Given the description of an element on the screen output the (x, y) to click on. 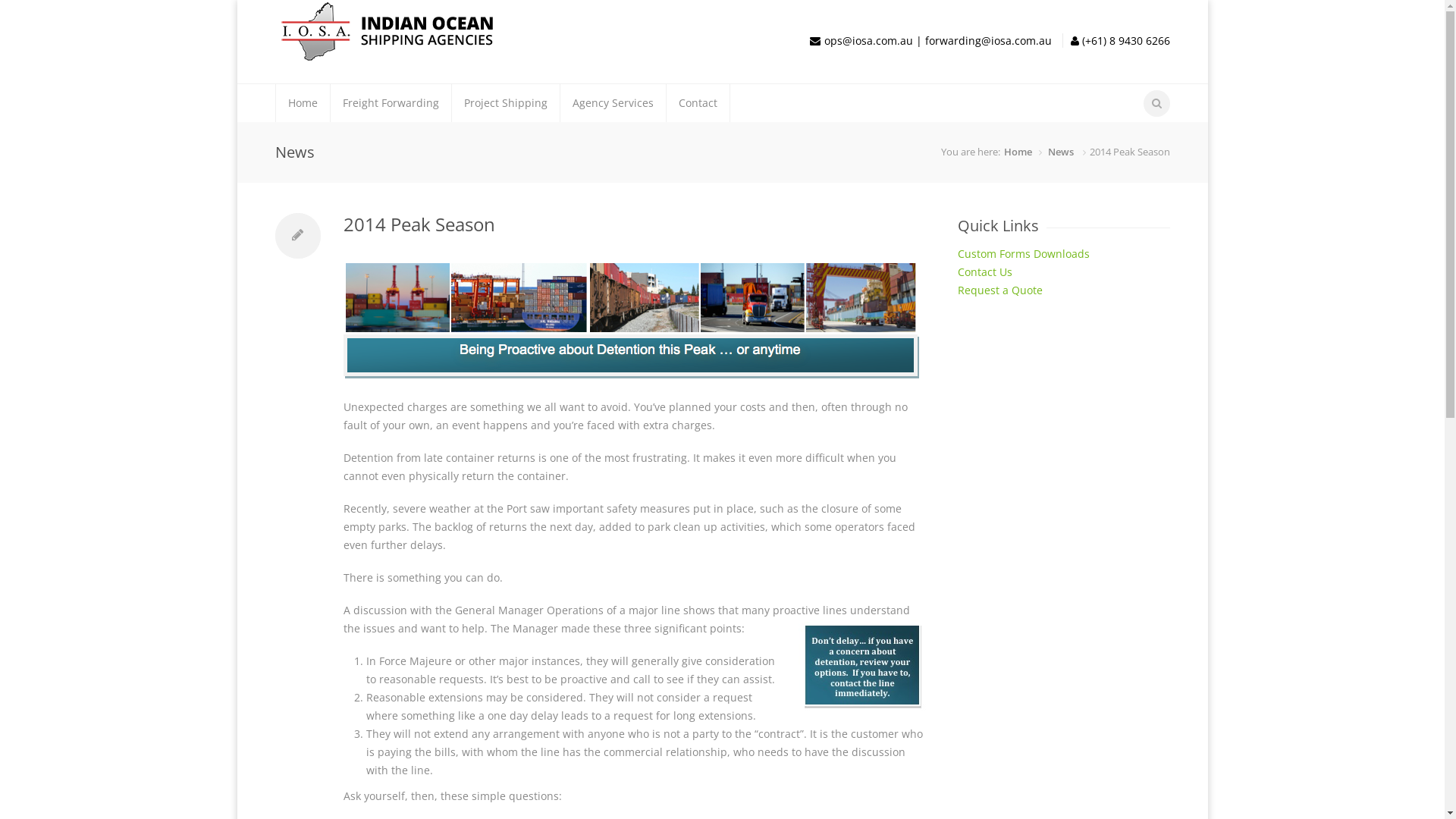
Agency Services Element type: text (612, 103)
Contact Us Element type: text (984, 271)
Freight Forwarding Element type: text (390, 103)
News Element type: text (1060, 151)
2014 Peak Season Element type: text (418, 223)
Home Element type: text (1018, 151)
(+61) 8 9430 6266 Element type: text (1123, 40)
Request a Quote Element type: text (999, 289)
Project Shipping Element type: text (505, 103)
Contact Element type: text (696, 103)
Home Element type: text (302, 103)
Indian Ocean Shipping Agencies Element type: hover (388, 56)
Custom Forms Downloads Element type: text (1022, 253)
